Given the description of an element on the screen output the (x, y) to click on. 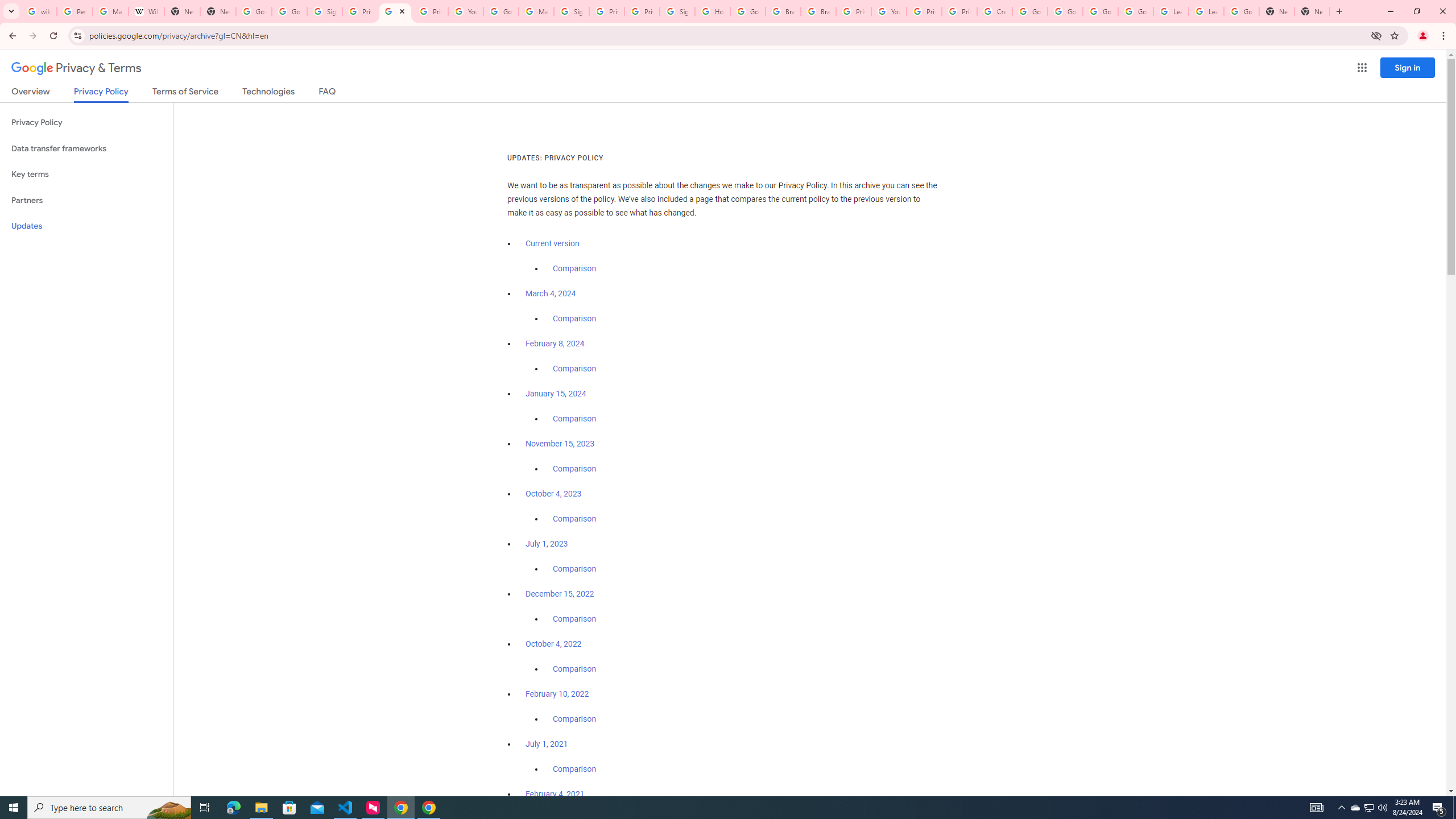
March 4, 2024 (550, 293)
Create your Google Account (994, 11)
November 15, 2023 (560, 443)
New Tab (218, 11)
Comparison (574, 768)
July 1, 2021 (546, 743)
Technologies (268, 93)
Google Drive: Sign-in (288, 11)
YouTube (888, 11)
